Given the description of an element on the screen output the (x, y) to click on. 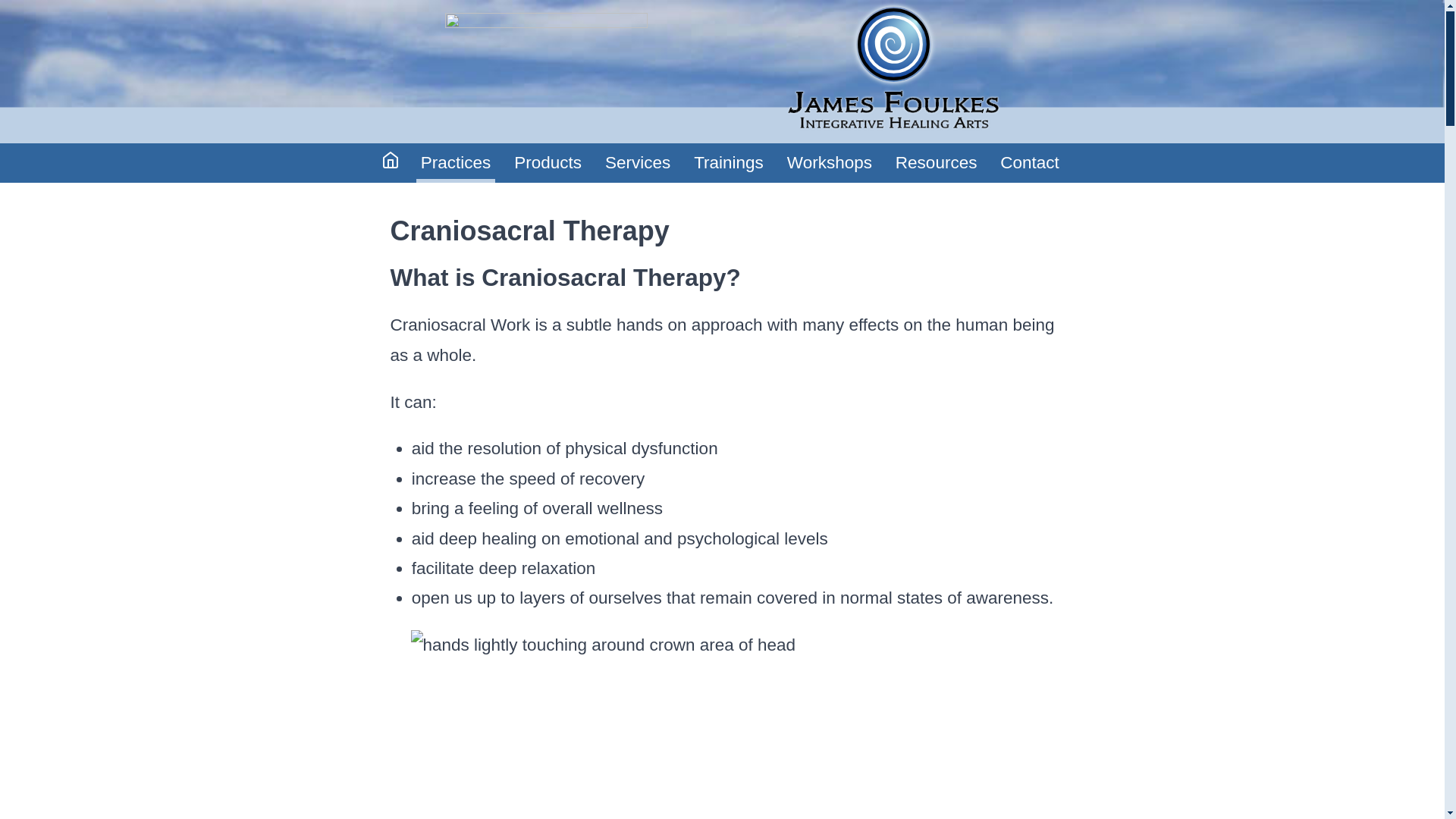
Products (548, 163)
Audio Yoga Classes (575, 189)
1 to 1 (709, 189)
Practices (455, 163)
Craniosacral (474, 189)
Services (637, 163)
